Given the description of an element on the screen output the (x, y) to click on. 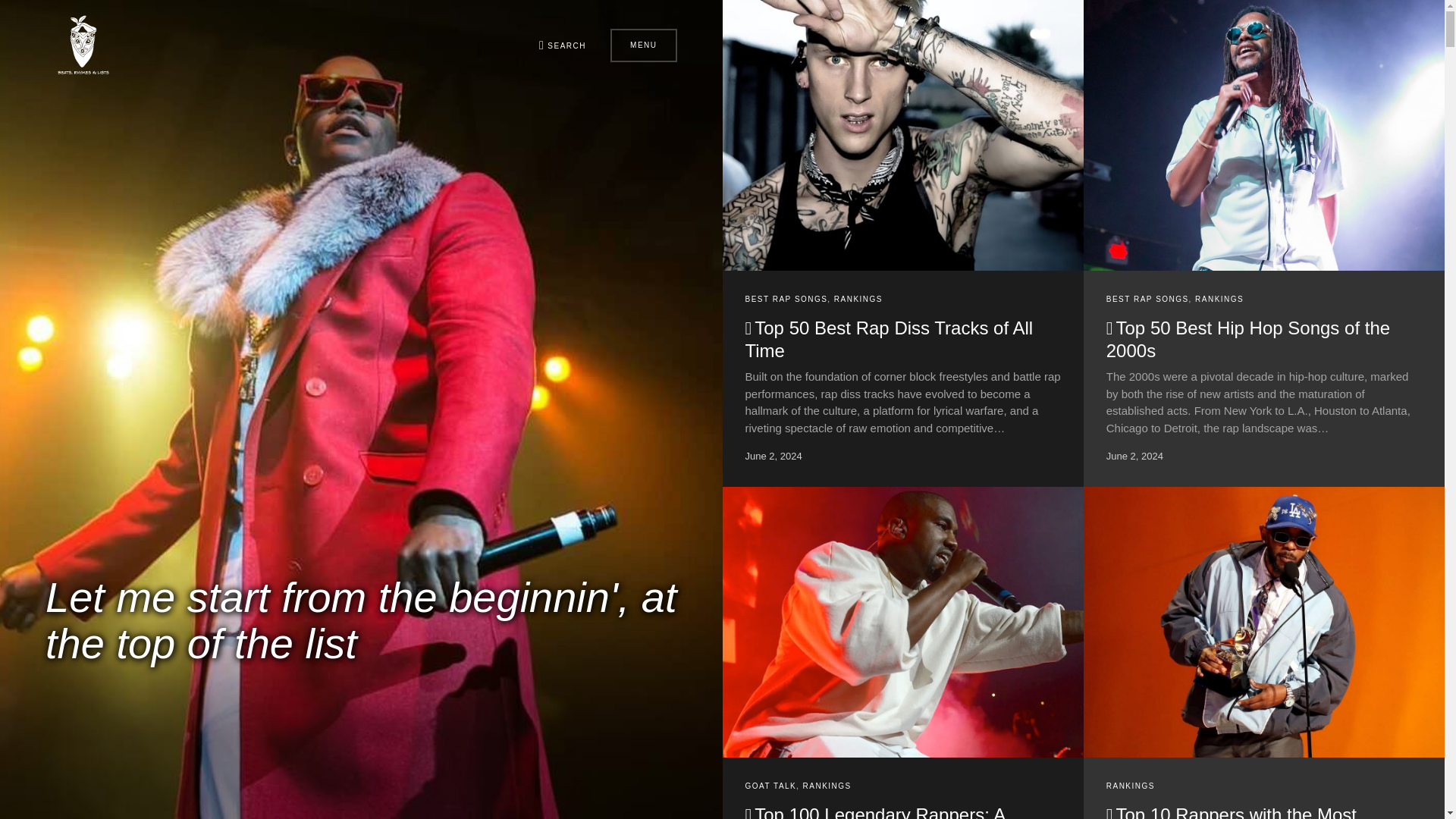
Top 50 Best Rap Diss Tracks of All Time (888, 339)
BEST RAP SONGS (785, 298)
RANKINGS (858, 298)
